Given the description of an element on the screen output the (x, y) to click on. 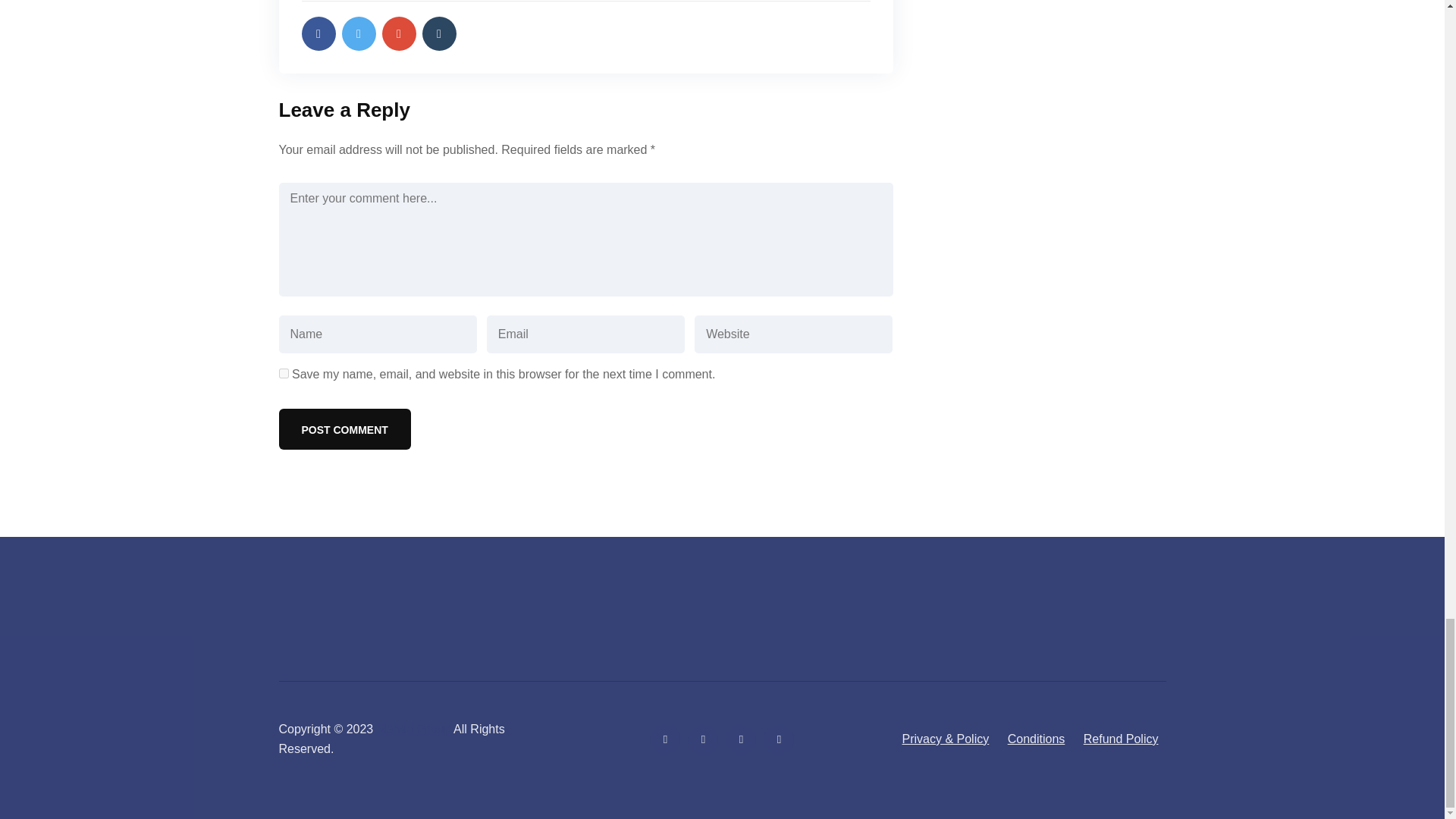
yes (283, 373)
Post Comment (344, 428)
